Given the description of an element on the screen output the (x, y) to click on. 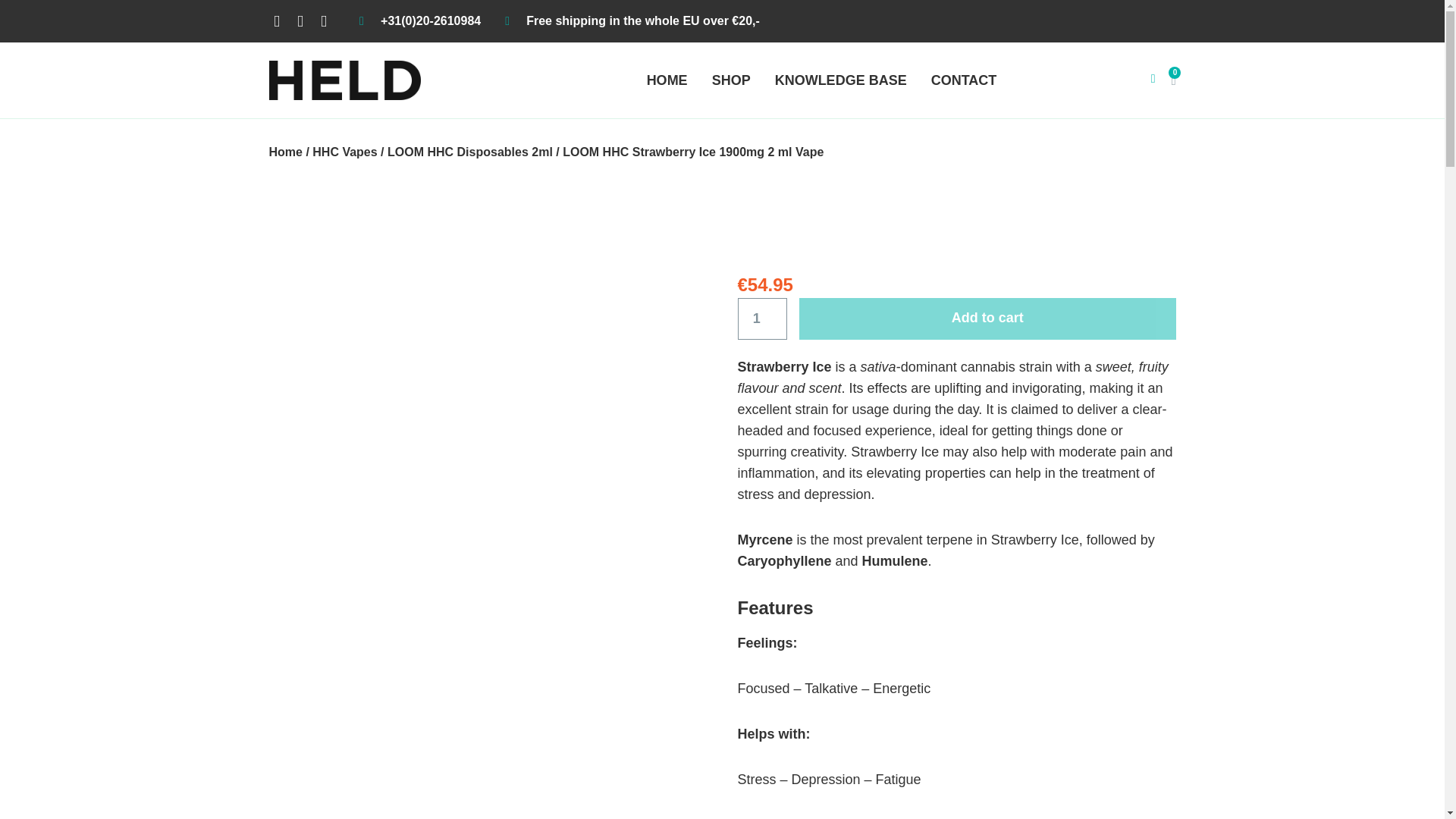
1 (761, 318)
